Given the description of an element on the screen output the (x, y) to click on. 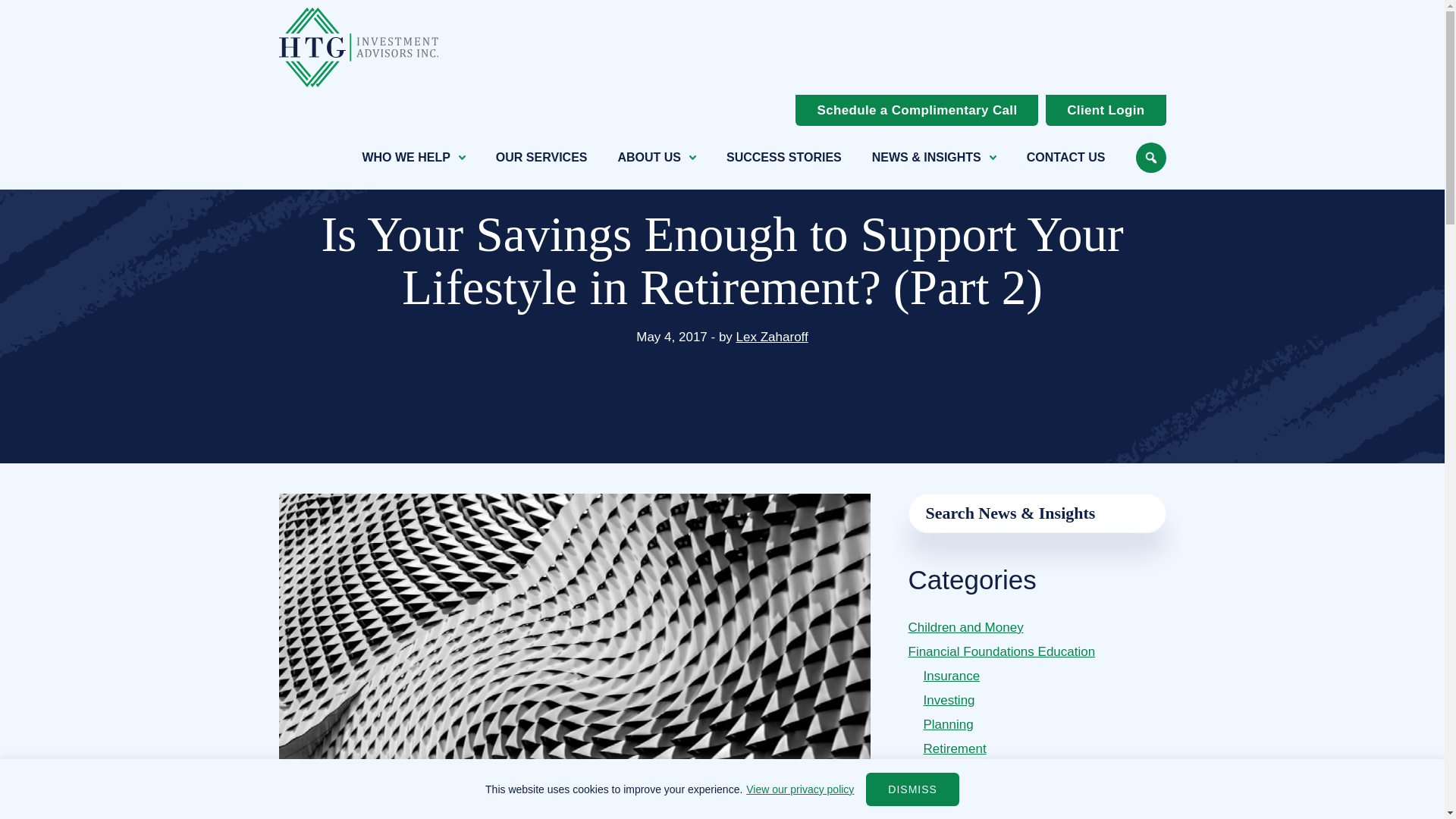
CONTACT US (1065, 157)
Schedule a Complimentary Call (916, 110)
ABOUT US (656, 157)
Client Login (1105, 110)
OUR SERVICES (542, 157)
WHO WE HELP (412, 157)
DISMISS (912, 788)
SUCCESS STORIES (783, 157)
Lex Zaharoff (772, 336)
HTG Advisors (358, 46)
View our privacy policy (799, 789)
SEARCH (1150, 157)
